Given the description of an element on the screen output the (x, y) to click on. 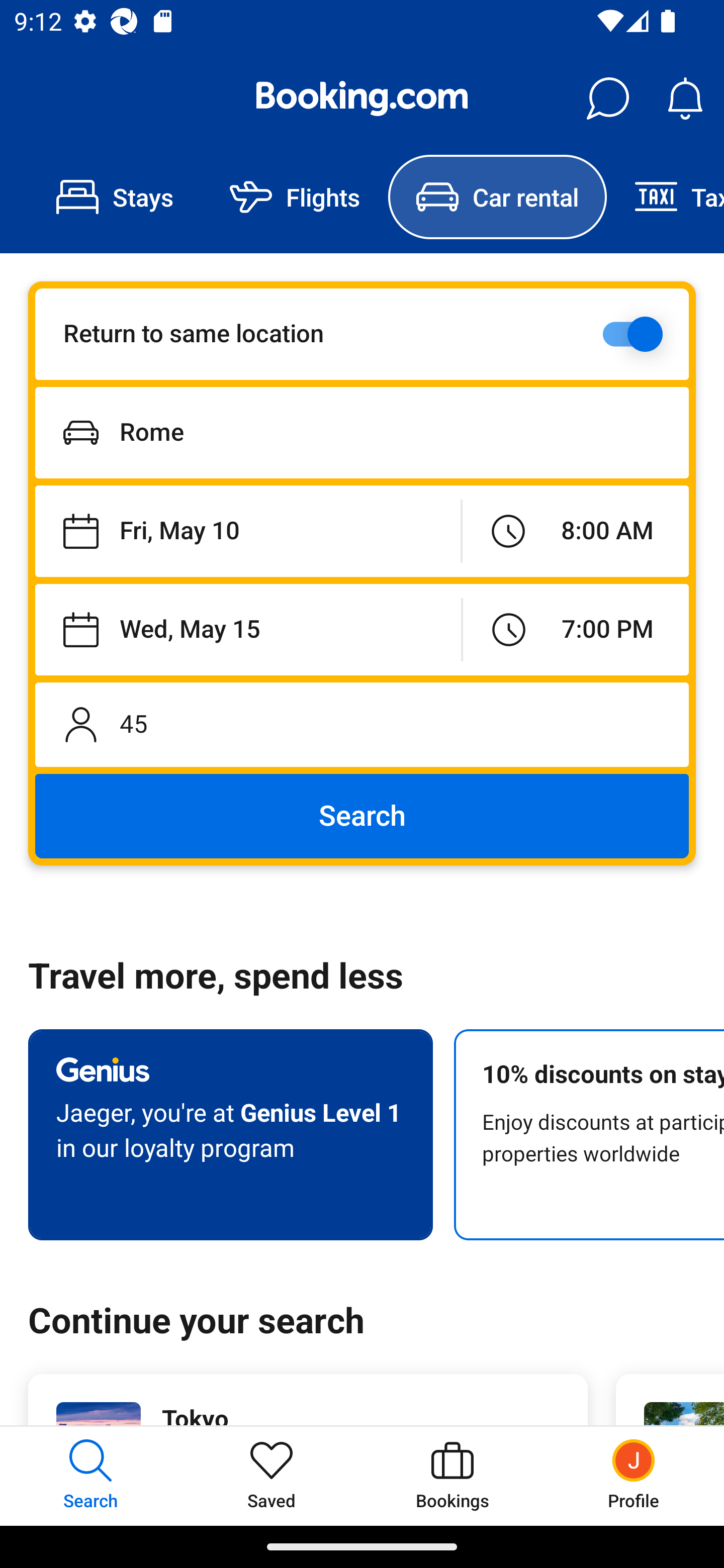
Messages (607, 98)
Notifications (685, 98)
Stays (114, 197)
Flights (294, 197)
Car rental (497, 197)
Taxi (665, 197)
Pick-up location: Text(name=Rome) (361, 432)
Pick-up date: 2024-05-10 (247, 531)
Pick-up time: 08:00:00.000 (575, 531)
Drop-off date: 2024-05-15 (248, 629)
Drop-off time: 19:00:00.000 (575, 629)
Driver's age: 45 (361, 724)
Search (361, 815)
Saved (271, 1475)
Bookings (452, 1475)
Profile (633, 1475)
